Given the description of an element on the screen output the (x, y) to click on. 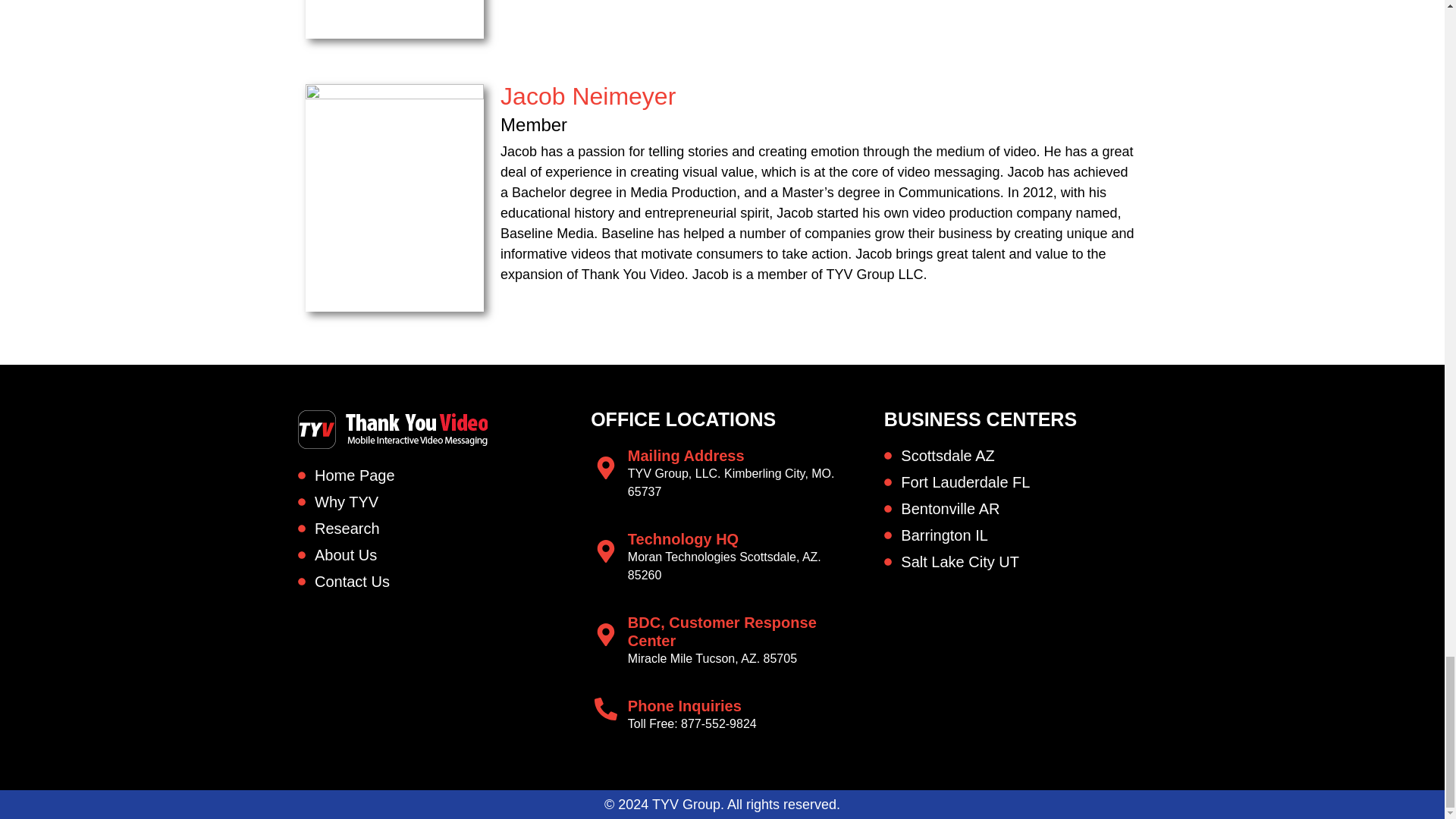
About Us (428, 554)
Phone Inquiries (684, 705)
Home Page (428, 475)
Research (428, 527)
Why TYV (428, 501)
Contact Us (428, 581)
